Given the description of an element on the screen output the (x, y) to click on. 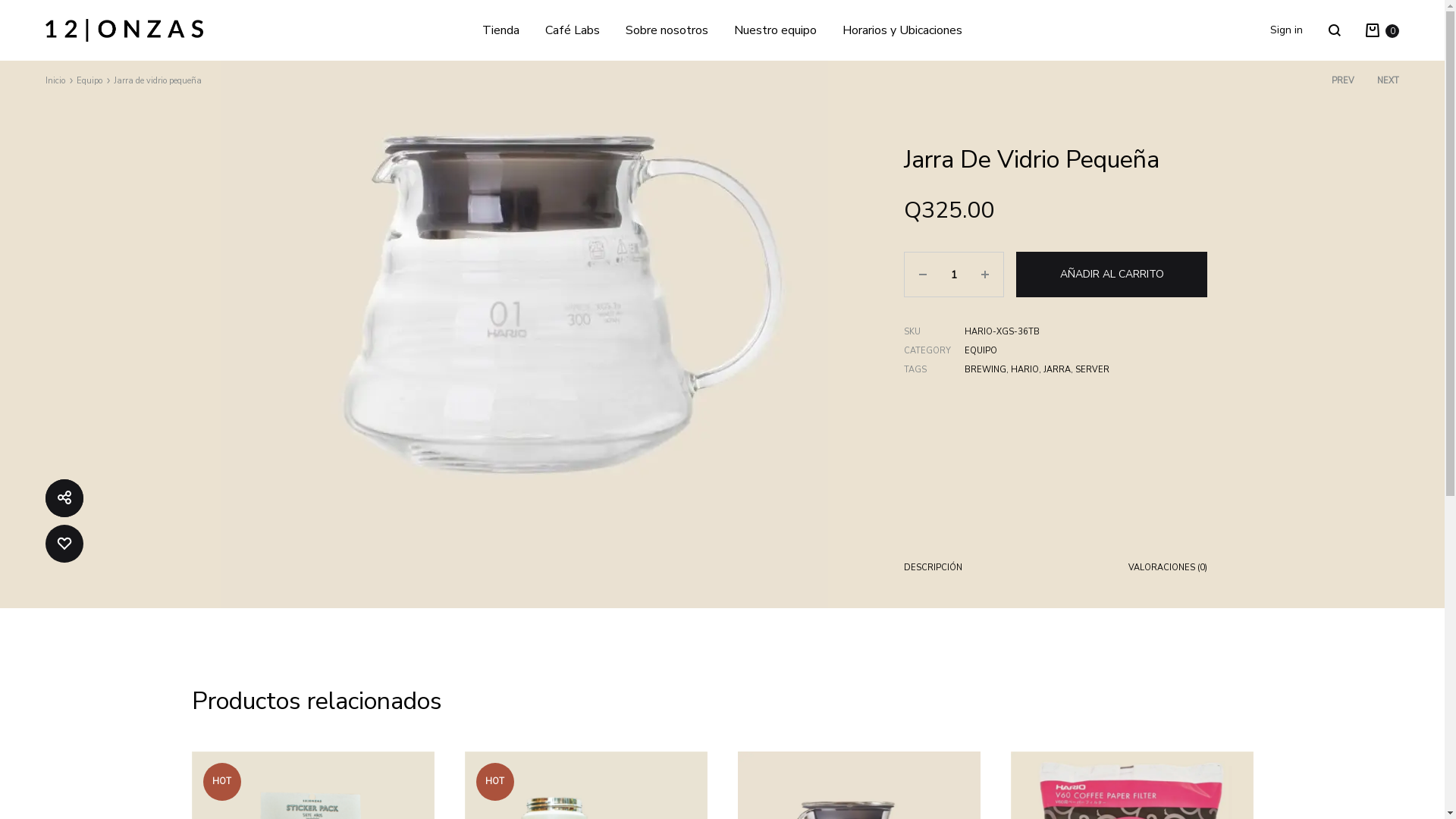
Sign in Element type: text (1286, 29)
PREV Element type: text (1342, 80)
EQUIPO Element type: text (980, 350)
Sobre nosotros Element type: text (666, 30)
NEXT Element type: text (1388, 80)
JARRA Element type: text (1056, 369)
HARIO Element type: text (1024, 369)
Horarios y Ubicaciones Element type: text (902, 30)
Cart
0 Element type: text (1381, 30)
jarra-vidrio-server-01 Element type: hover (524, 304)
Cantidad Element type: hover (953, 274)
Inicio Element type: text (55, 80)
SERVER Element type: text (1092, 369)
ADD TO WISHLIST Element type: text (64, 543)
Equipo Element type: text (89, 80)
Tienda Element type: text (500, 30)
VALORACIONES (0) Element type: text (1167, 570)
BREWING Element type: text (985, 369)
Nuestro equipo Element type: text (775, 30)
